Given the description of an element on the screen output the (x, y) to click on. 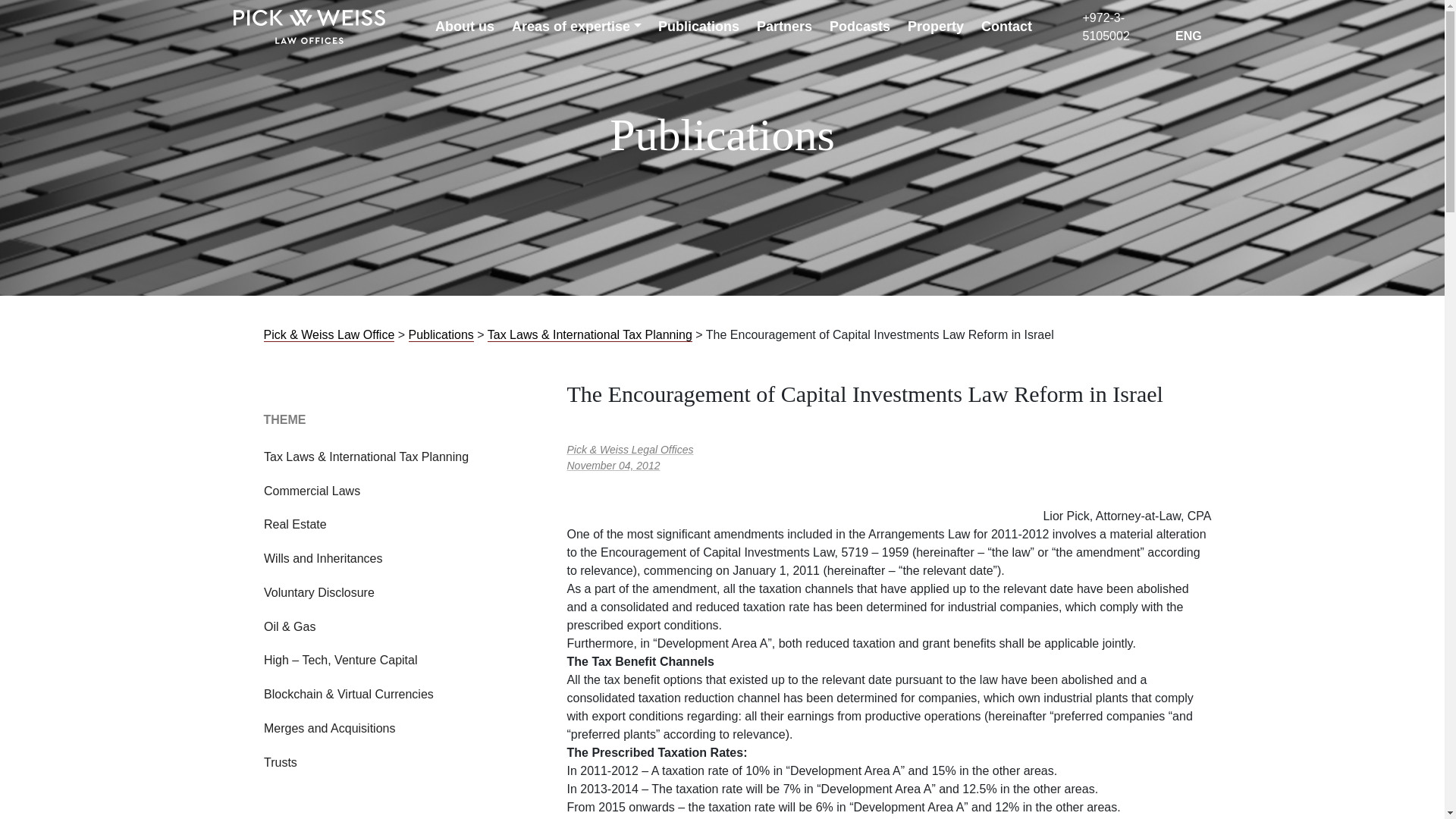
Contact (1006, 26)
Real Estate (294, 524)
Contact (1006, 26)
Partners (784, 26)
Podcasts (859, 26)
Publications (698, 26)
Commercial Laws (311, 491)
About us (465, 26)
About us (465, 26)
Wills and Inheritances (322, 558)
